Given the description of an element on the screen output the (x, y) to click on. 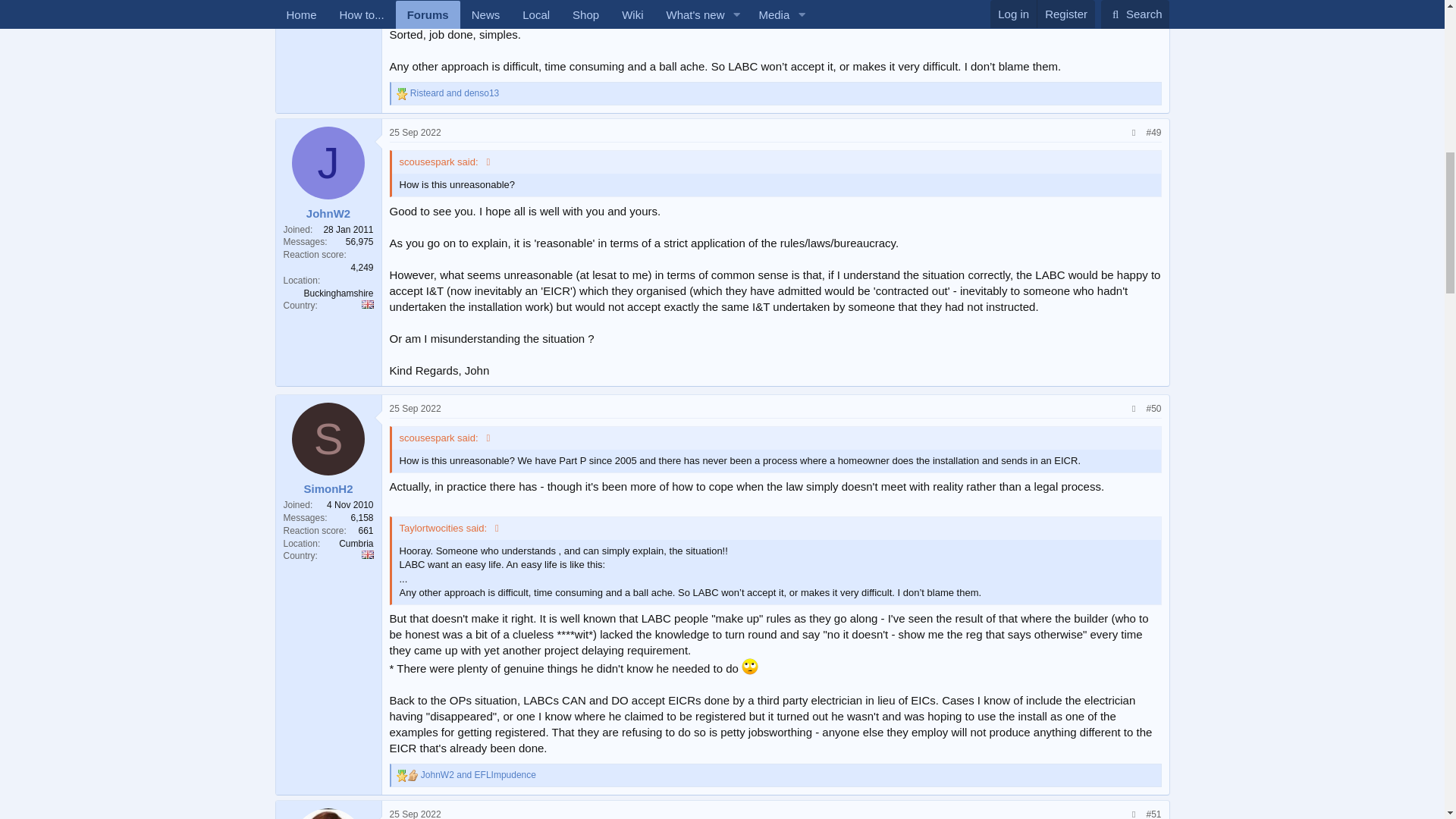
Thanks (401, 93)
25 Sep 2022 at 6:36 PM (415, 132)
United Kingdom (366, 304)
United Kingdom (366, 554)
Roll Eyes    :rolleyes: (749, 666)
25 Sep 2022 at 6:39 PM (415, 408)
